Given the description of an element on the screen output the (x, y) to click on. 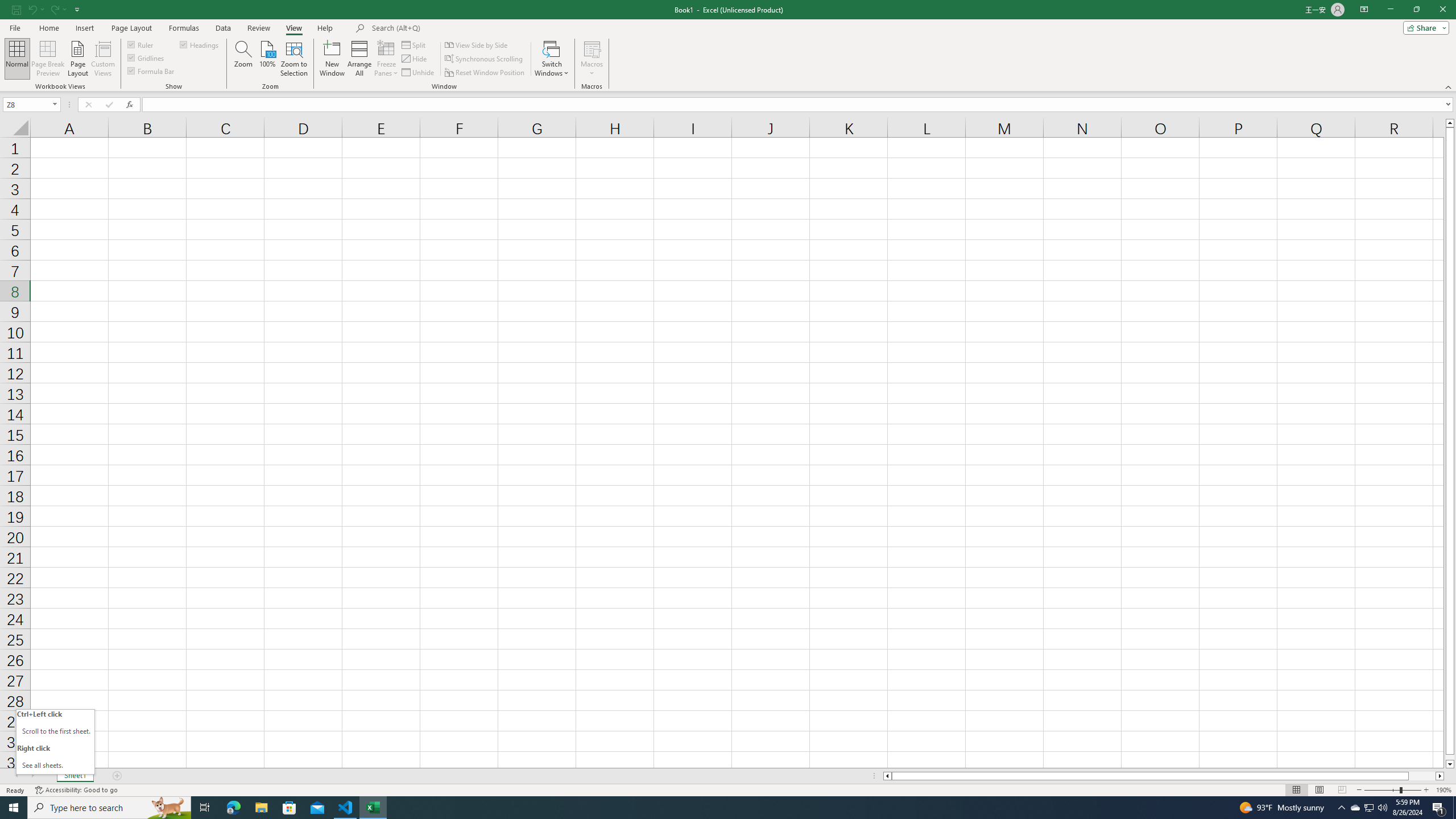
Save (16, 9)
View Side by Side (476, 44)
Column right (1440, 775)
Custom Views... (103, 58)
Gridlines (146, 56)
Ribbon Display Options (1364, 9)
100% (266, 58)
Synchronous Scrolling (484, 58)
